Given the description of an element on the screen output the (x, y) to click on. 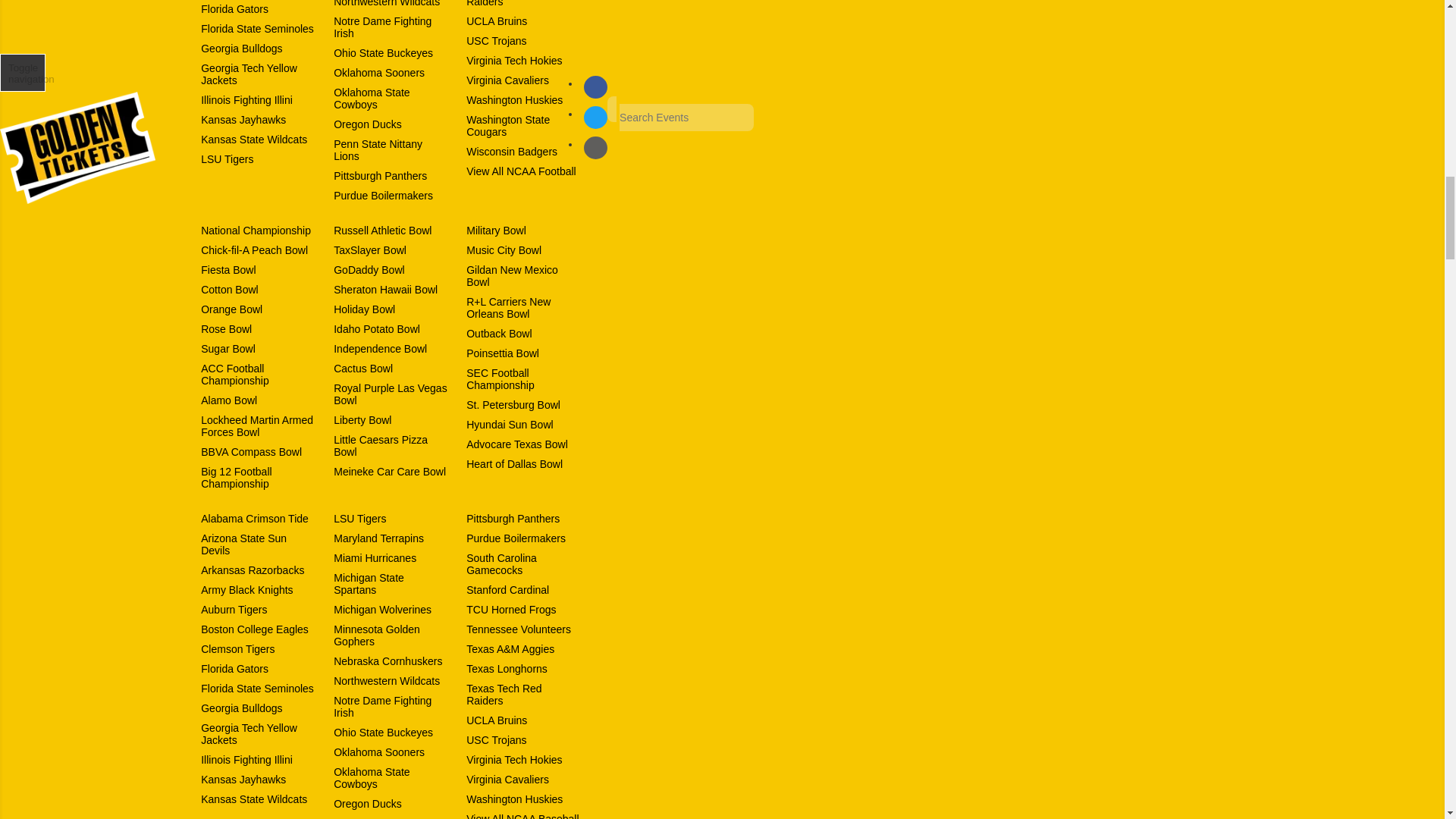
Twitter (595, 117)
Instagram (595, 147)
Toggle navigation (22, 72)
Facebook (595, 87)
